Given the description of an element on the screen output the (x, y) to click on. 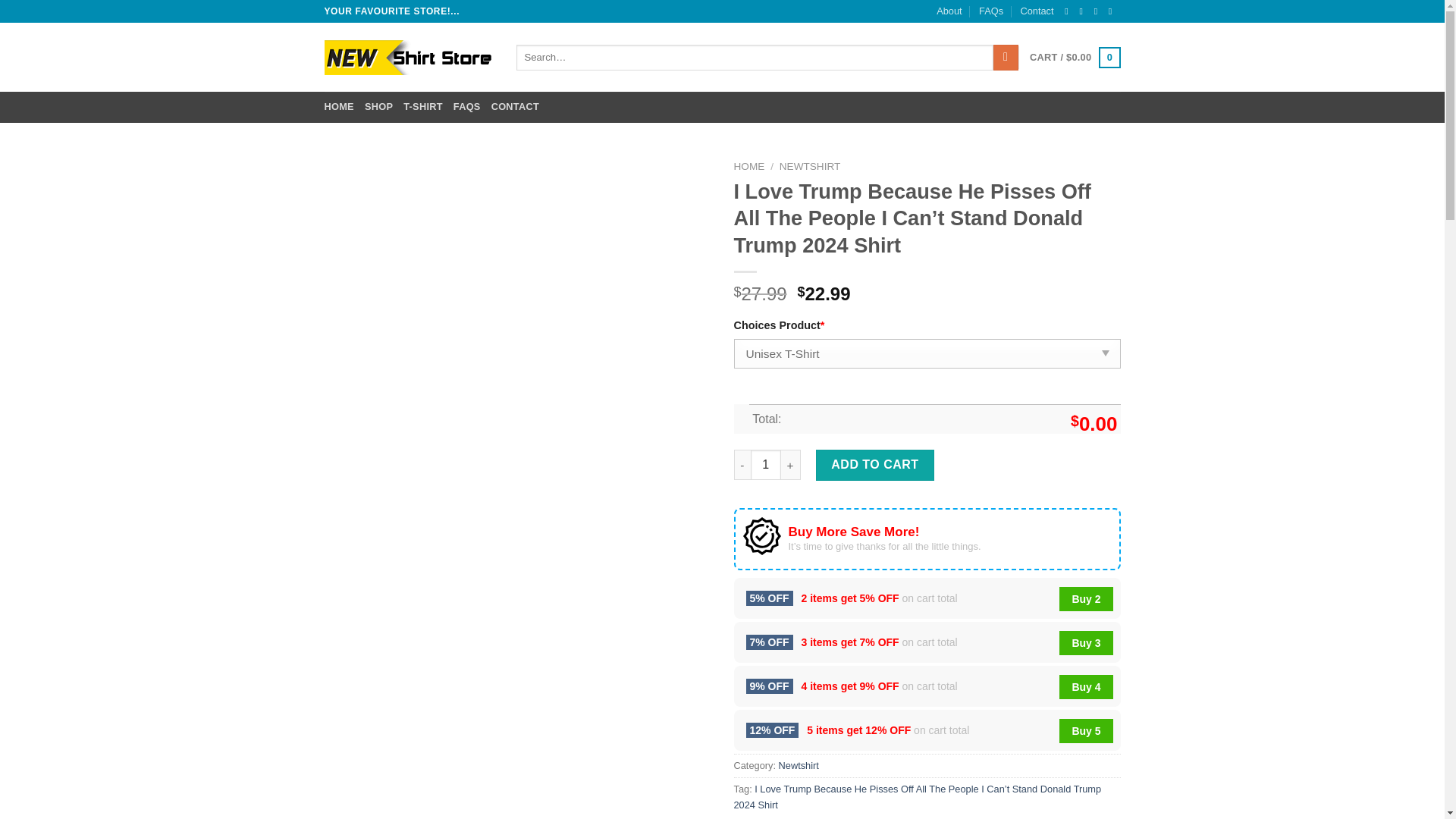
Contact (1036, 11)
FAQs (990, 11)
SHOP (379, 106)
HOME (338, 106)
FAQS (466, 106)
T-SHIRT (422, 106)
1 (765, 464)
Search (1004, 57)
About (948, 11)
HOME (749, 165)
NEWTSHIRT (809, 165)
NEWSHIRTSTORE (408, 58)
Newtshirt (798, 765)
CONTACT (515, 106)
Cart (1074, 57)
